Given the description of an element on the screen output the (x, y) to click on. 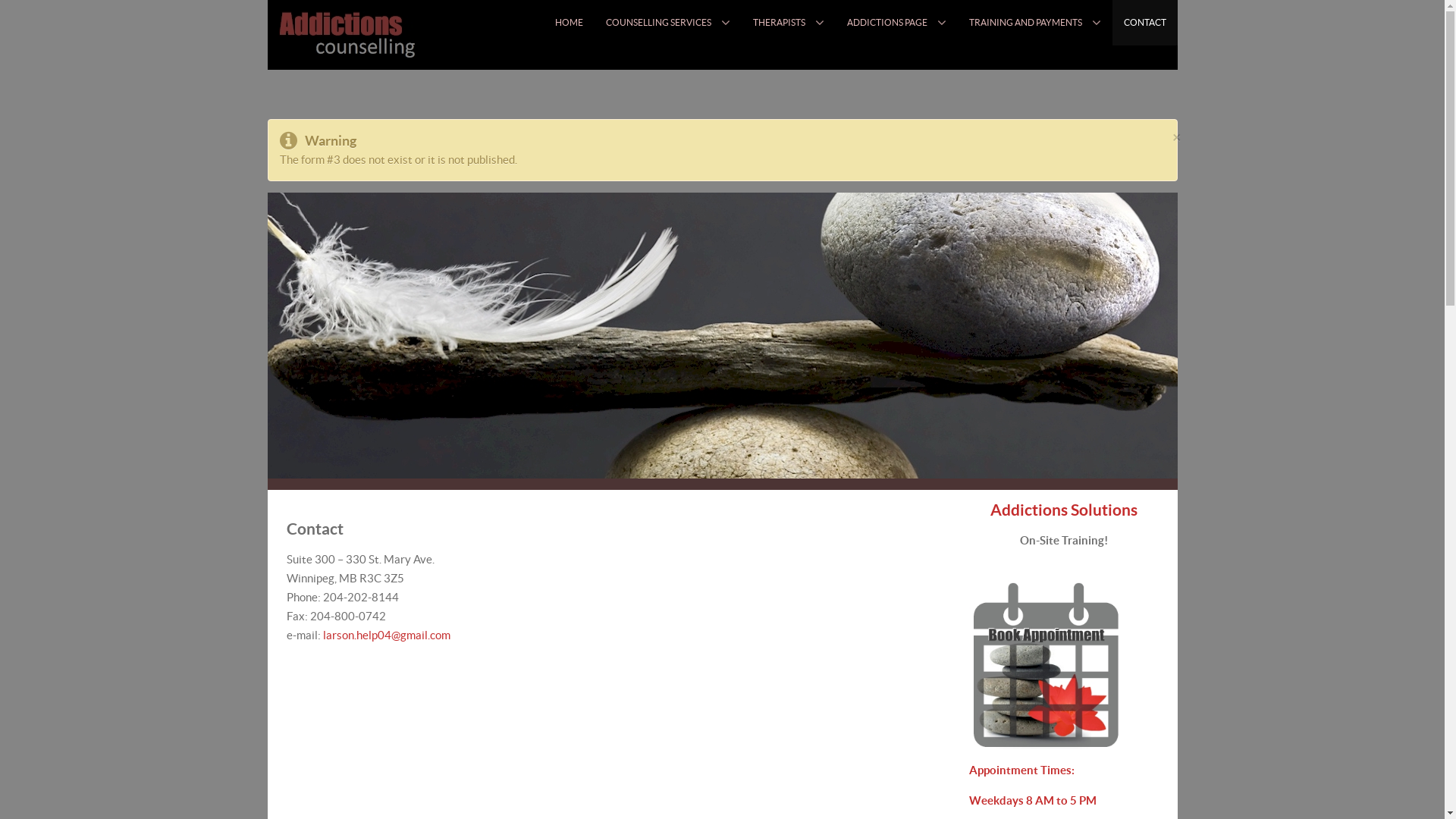
Addictions Solutions Element type: text (1063, 509)
HOME Element type: text (567, 22)
CONTACT Element type: text (1143, 22)
Appointment Times: Element type: text (1021, 769)
TRAINING AND PAYMENTS Element type: text (1034, 22)
larson.help04@gmail.com Element type: text (386, 634)
THERAPISTS Element type: text (788, 22)
Weekdays 8 AM to 5 PM Element type: text (1032, 799)
COUNSELLING SERVICES Element type: text (667, 22)
ADDICTIONS PAGE Element type: text (896, 22)
